Given the description of an element on the screen output the (x, y) to click on. 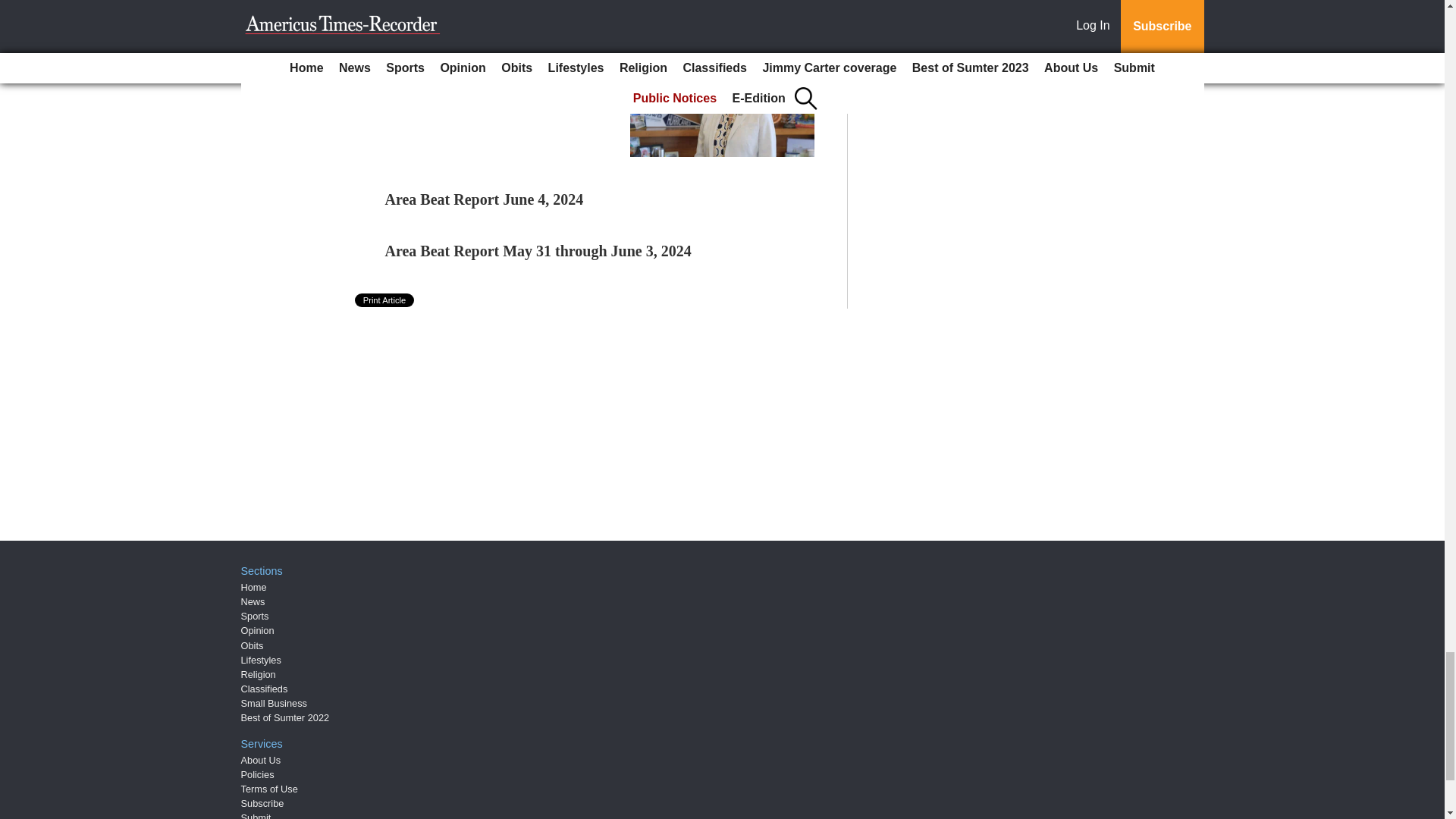
Area Beat Report May 31 through June 3, 2024 (538, 250)
Area Beat Report June 4, 2024 (484, 199)
